Given the description of an element on the screen output the (x, y) to click on. 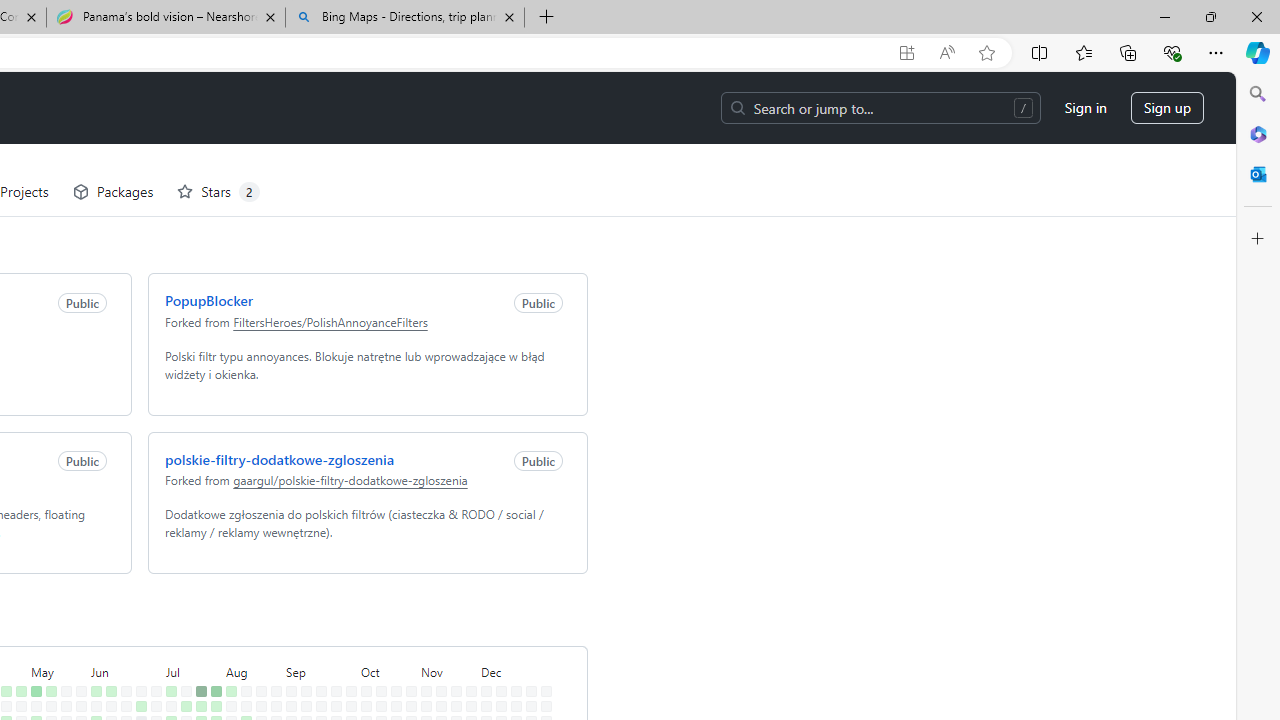
No contributions on October 17th. (377, 678)
No contributions on August 30th. (272, 694)
No contributions on September 16th. (317, 634)
No contributions on September 6th. (287, 694)
1 contribution on July 7th. (167, 619)
2 contributions on April 28th. (17, 619)
No contributions on November 28th. (467, 678)
No contributions on May 10th. (32, 694)
No contributions on May 15th. (47, 664)
No contributions on May 27th. (77, 634)
No contributions on November 6th. (422, 664)
No contributions on December 17th. (512, 649)
No contributions on November 21st. (452, 678)
Packages (108, 120)
